Given the description of an element on the screen output the (x, y) to click on. 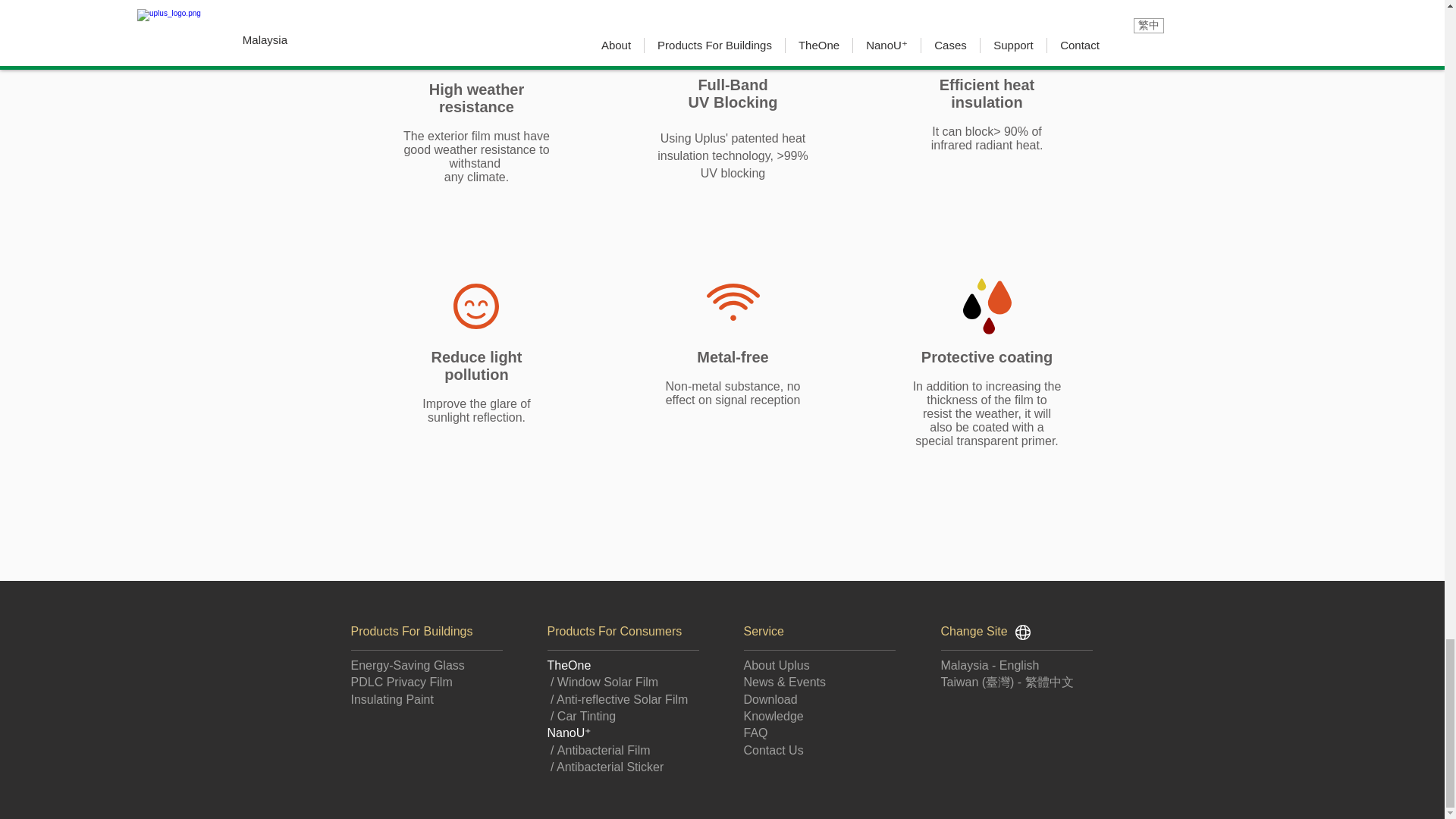
Anti-reflective Solar Film (621, 698)
Energy-Saving Glass (407, 665)
About Uplus (775, 665)
TheOne (569, 665)
Download (769, 698)
Antibacterial Sticker (609, 766)
Knowledge (772, 716)
Insulating Paint (391, 698)
Contact Us (772, 749)
FAQ (754, 732)
